Given the description of an element on the screen output the (x, y) to click on. 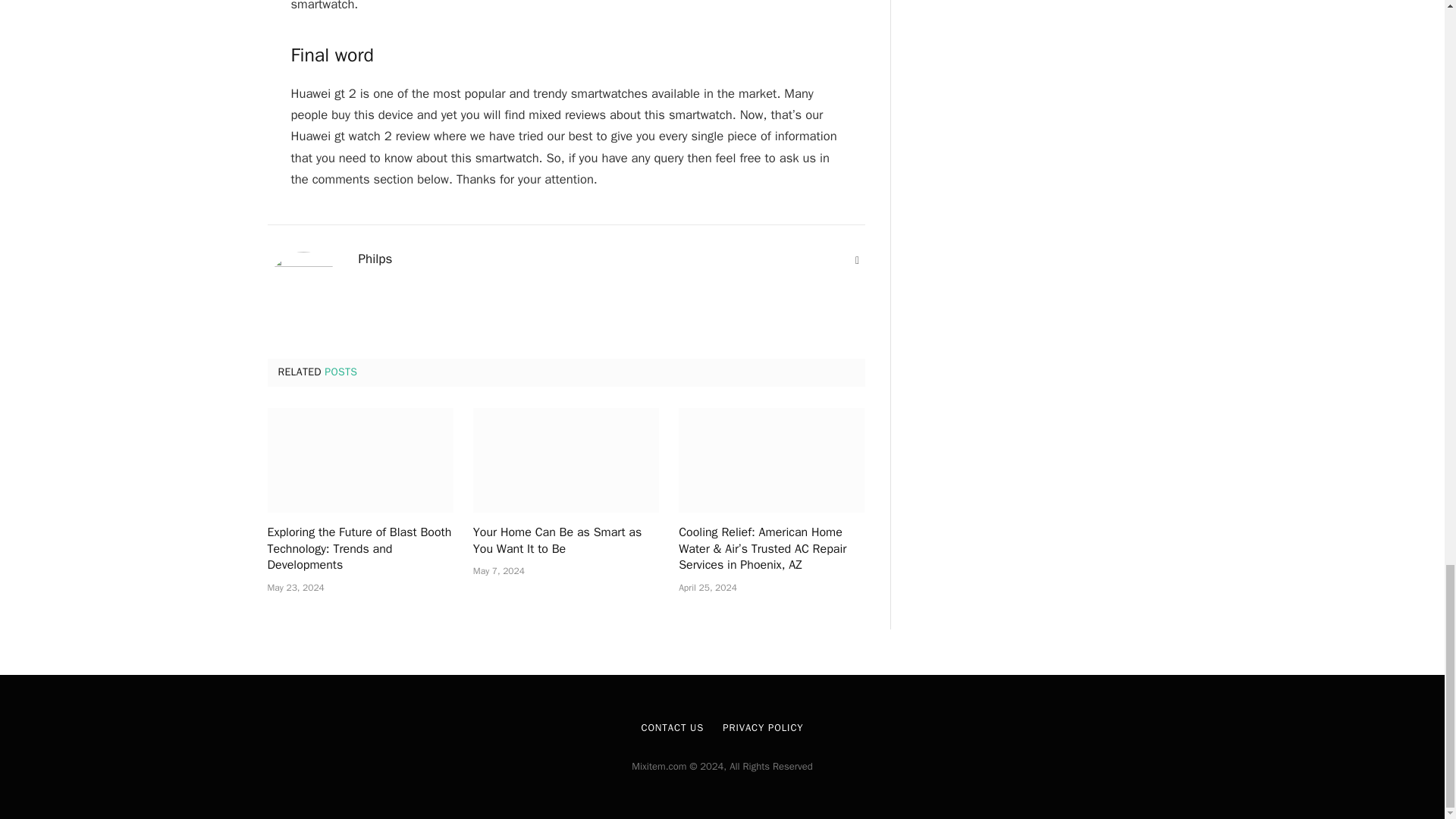
Philps (374, 258)
Website (856, 260)
